Given the description of an element on the screen output the (x, y) to click on. 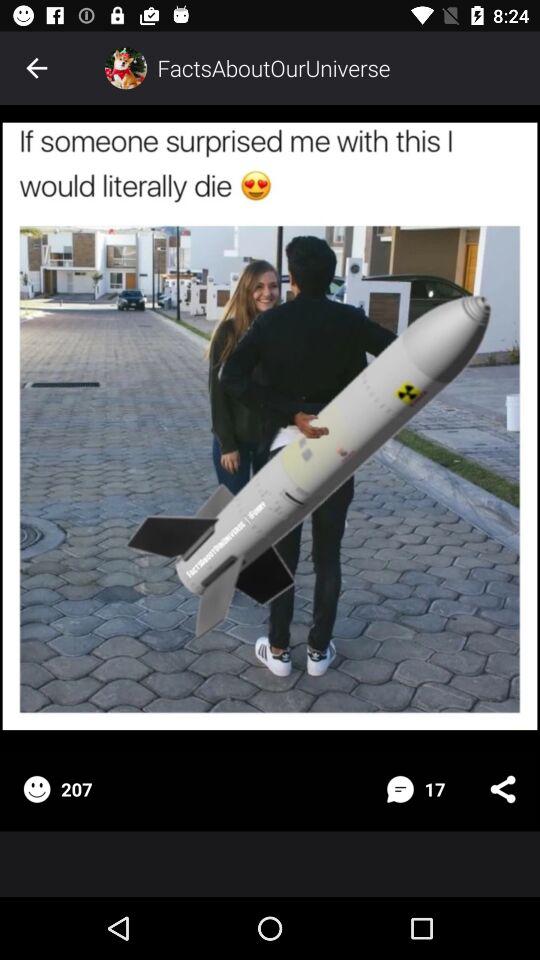
click icon to the left of the factsaboutouruniverse item (125, 68)
